Given the description of an element on the screen output the (x, y) to click on. 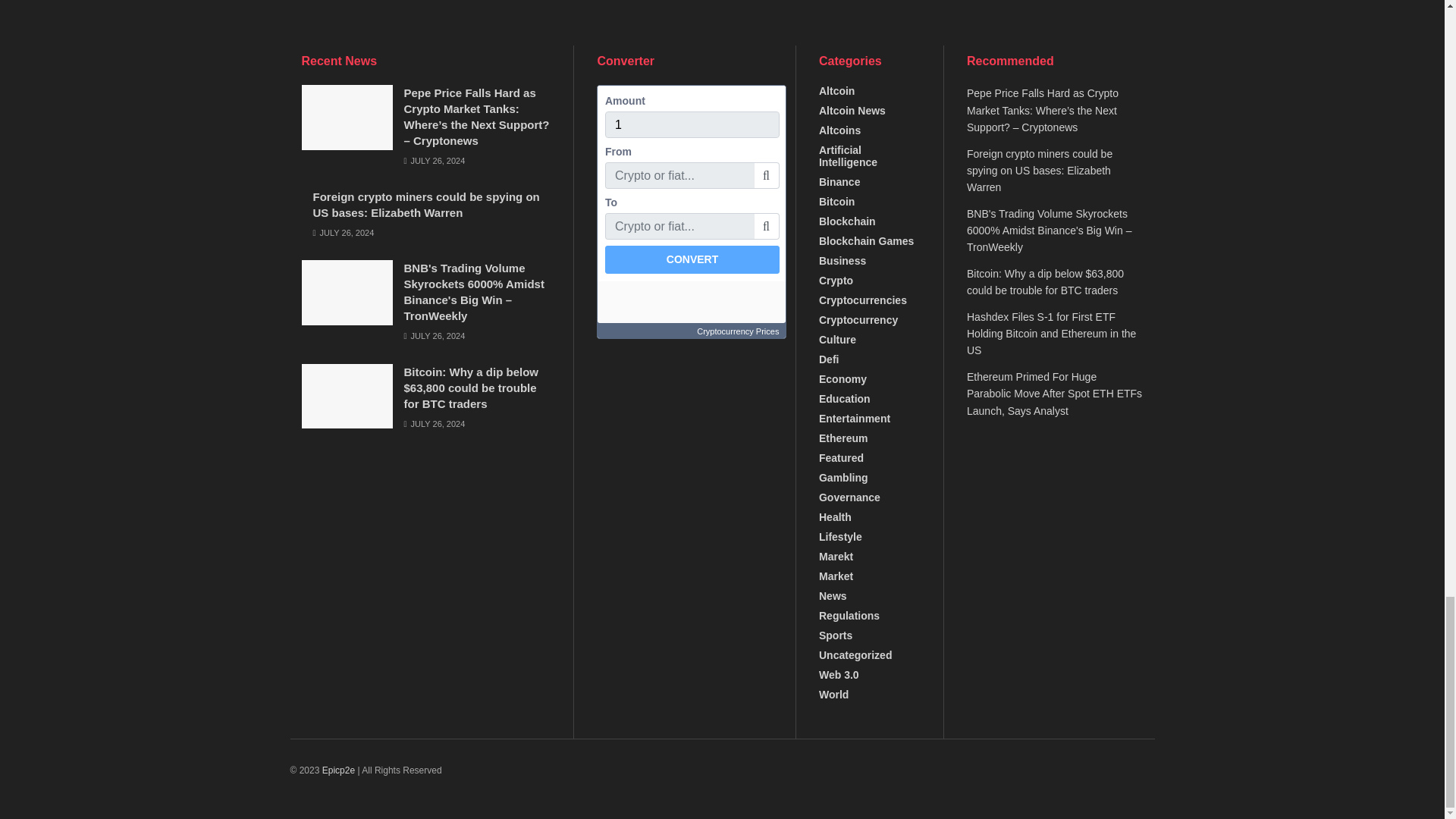
Premium news  (338, 769)
